Given the description of an element on the screen output the (x, y) to click on. 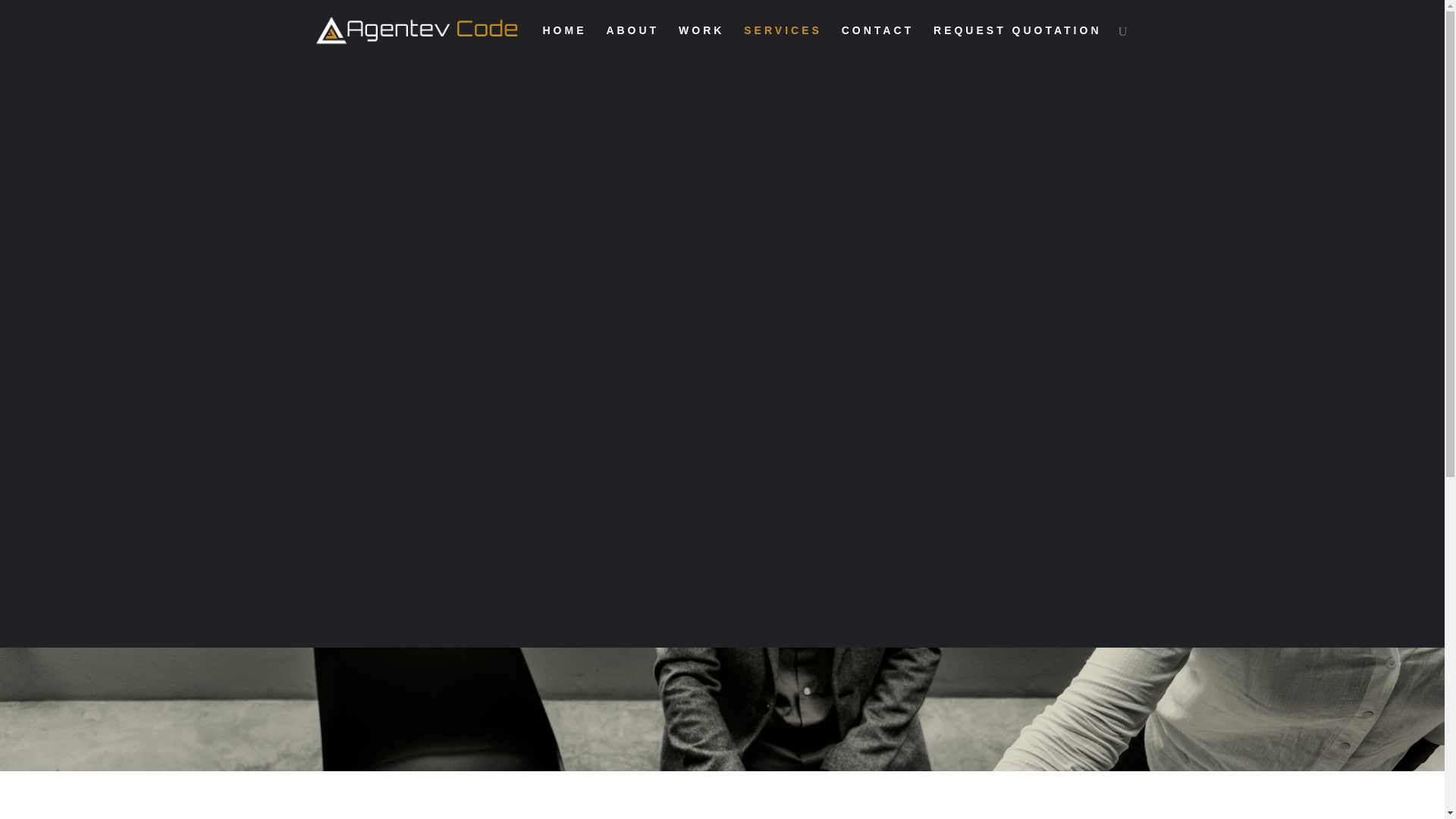
HOME (564, 42)
REQUEST QUOTATION (1016, 42)
SERVICES (783, 42)
ABOUT (632, 42)
WORK (700, 42)
CONTACT (877, 42)
